Given the description of an element on the screen output the (x, y) to click on. 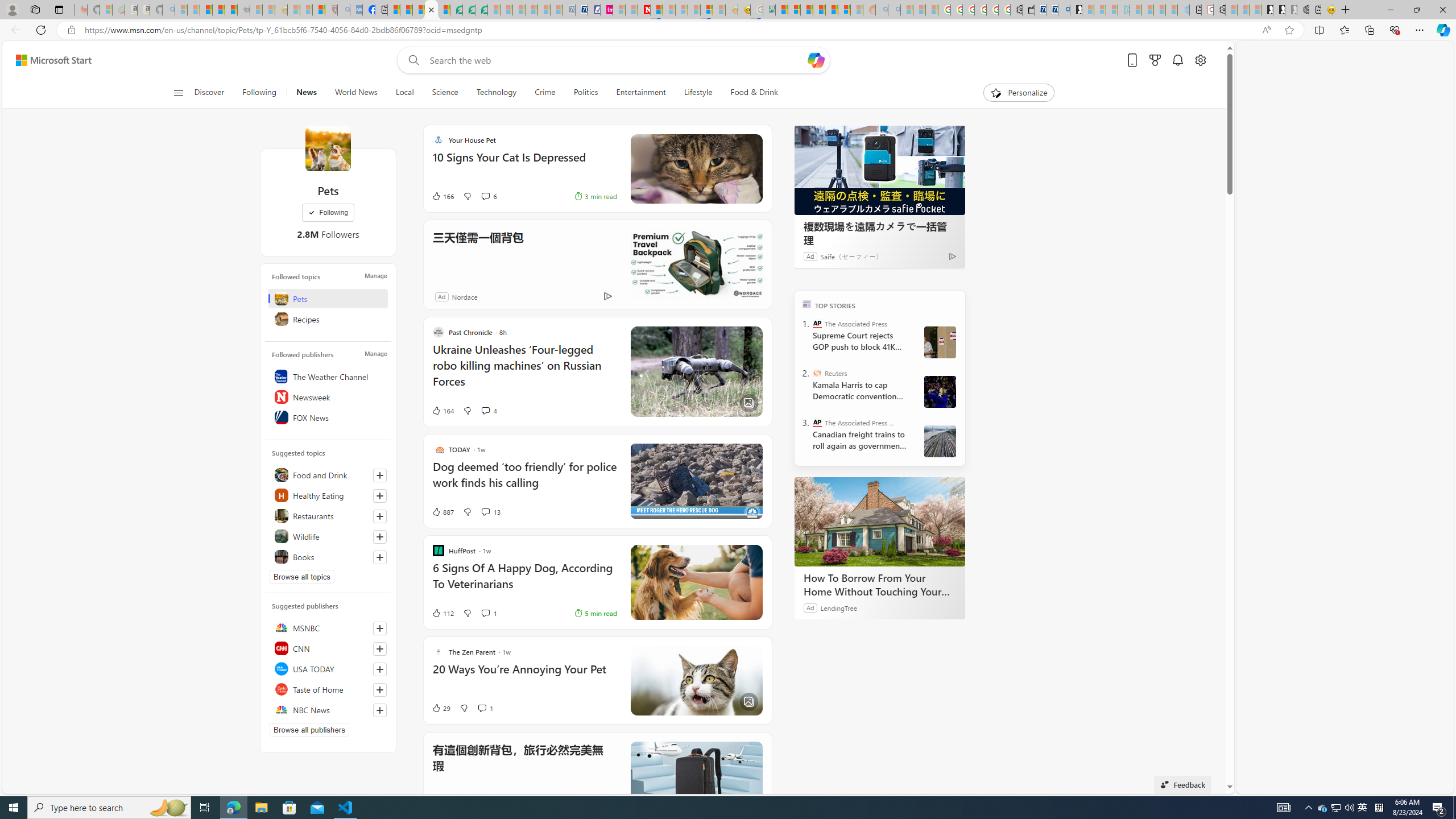
Darryl Dyck Canada Railroads Unions (940, 441)
Open navigation menu (177, 92)
Follow this topic (379, 557)
